Given the description of an element on the screen output the (x, y) to click on. 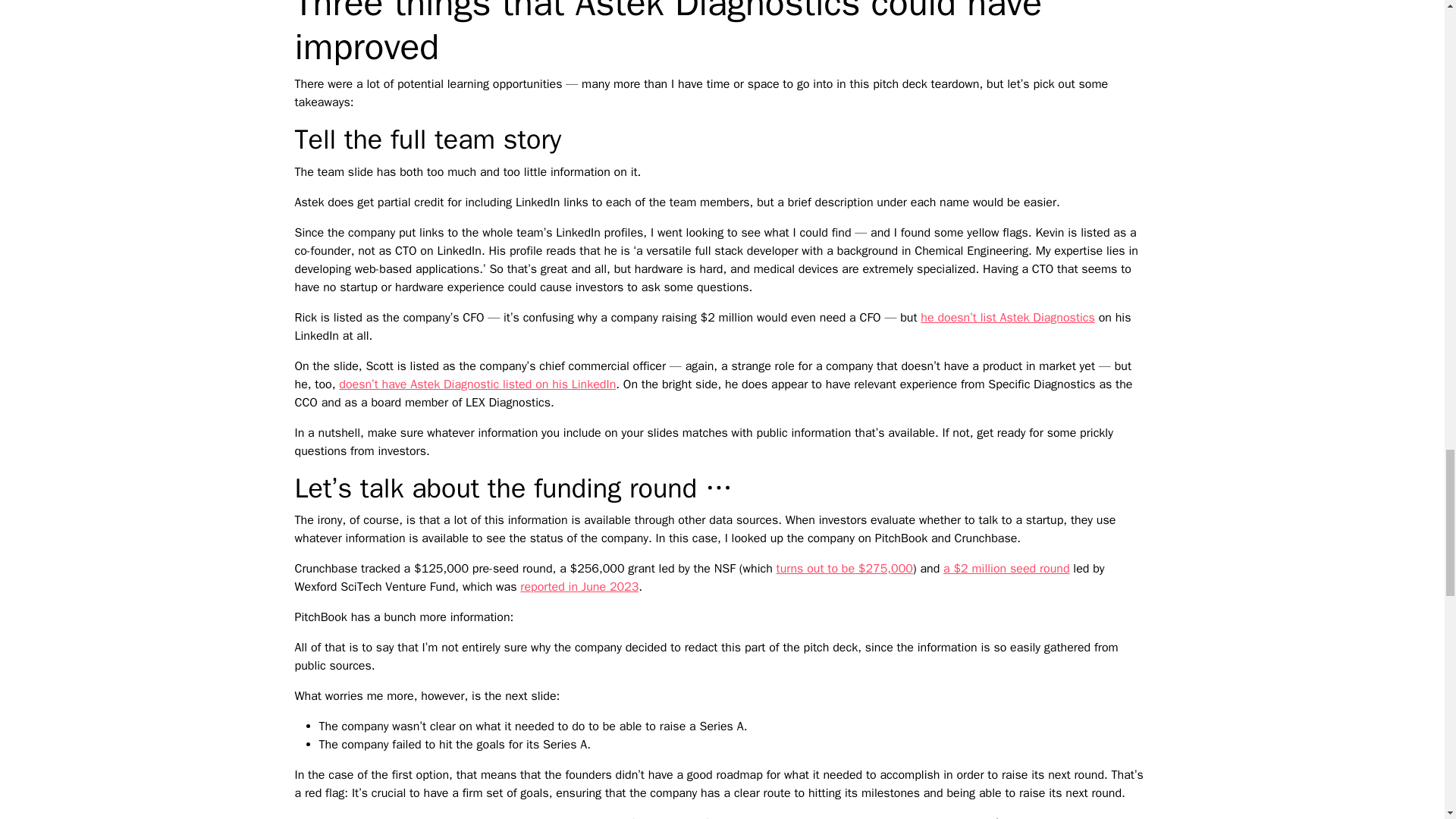
reported in June 2023 (579, 586)
